Given the description of an element on the screen output the (x, y) to click on. 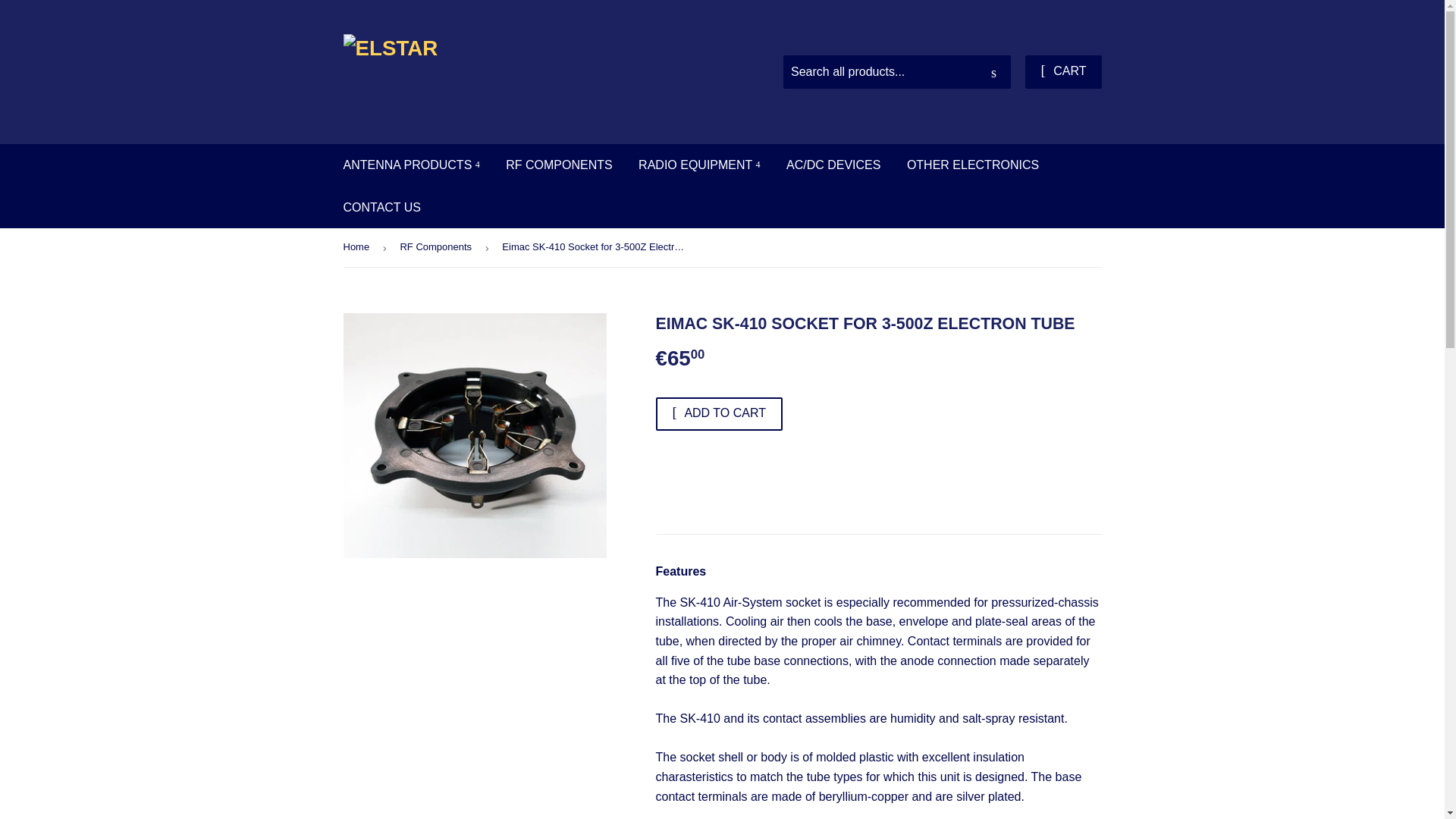
Search (993, 72)
CART (1062, 71)
RF COMPONENTS (559, 165)
ANTENNA PRODUCTS (411, 165)
Back to the frontpage (358, 247)
RADIO EQUIPMENT (699, 165)
